Given the description of an element on the screen output the (x, y) to click on. 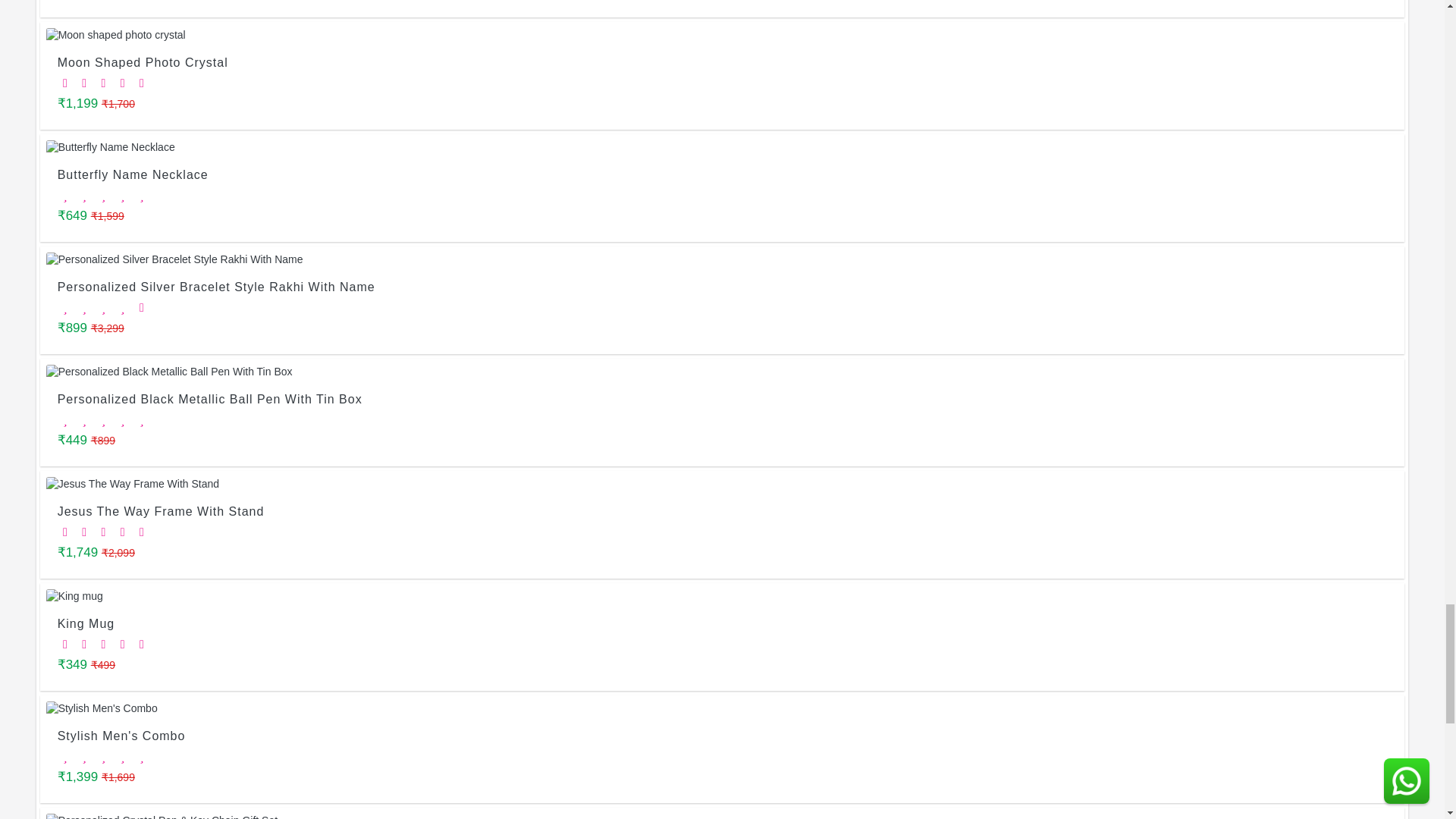
King mug (722, 596)
Stylish Men's Combo (722, 708)
Personalized Silver Bracelet Style Rakhi With Name (722, 259)
Jesus The Way Frame With Stand (722, 484)
Moon shaped photo crystal (722, 35)
Butterfly Name Necklace (722, 147)
Personalized Black Metallic Ball Pen With Tin Box (722, 372)
